Given the description of an element on the screen output the (x, y) to click on. 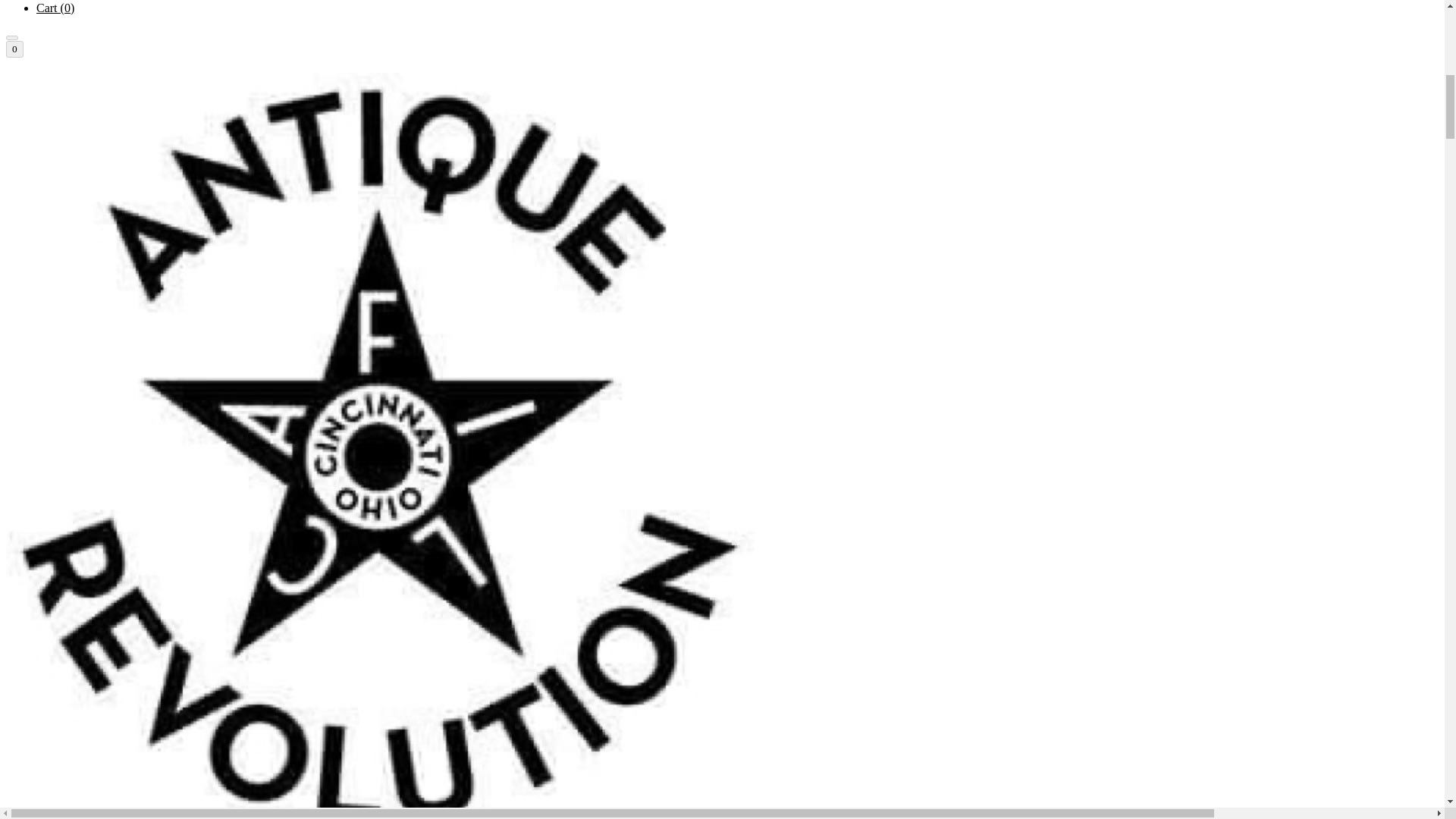
0 (14, 48)
